Given the description of an element on the screen output the (x, y) to click on. 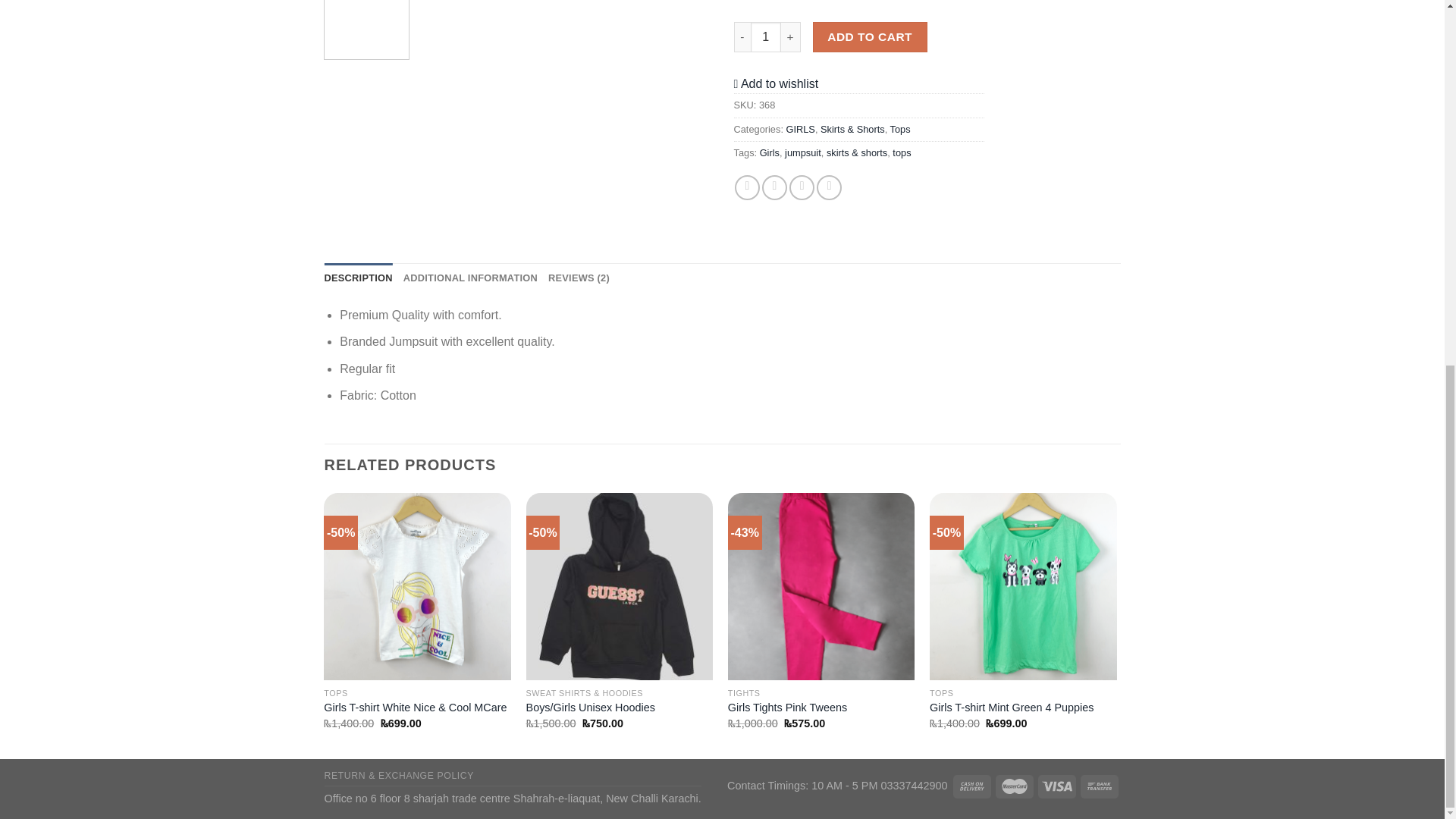
1 (765, 37)
Share on Facebook (747, 187)
Share on Twitter (774, 187)
